Given the description of an element on the screen output the (x, y) to click on. 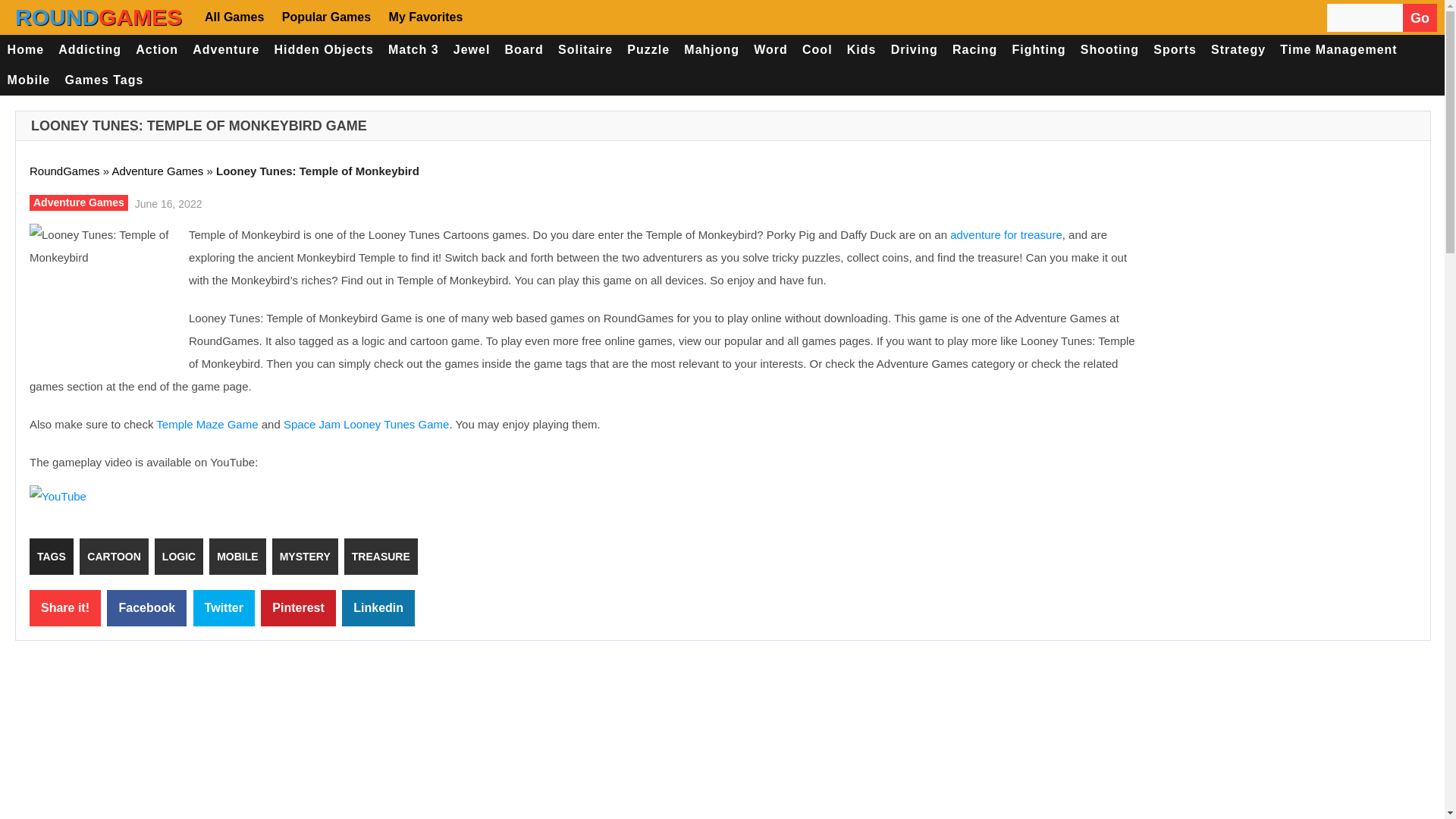
12:39 pm (470, 193)
Play Free Online Games No Downloads at RoundGames (403, 17)
Our YouTube Channel (881, 13)
ADVENTURE (791, 49)
ROUNDGAMES (403, 17)
ADDICTING (614, 49)
POPULAR GAMES (630, 12)
Go (1120, 13)
HIDDEN OBJECTS (887, 71)
ACTION (700, 49)
